Given the description of an element on the screen output the (x, y) to click on. 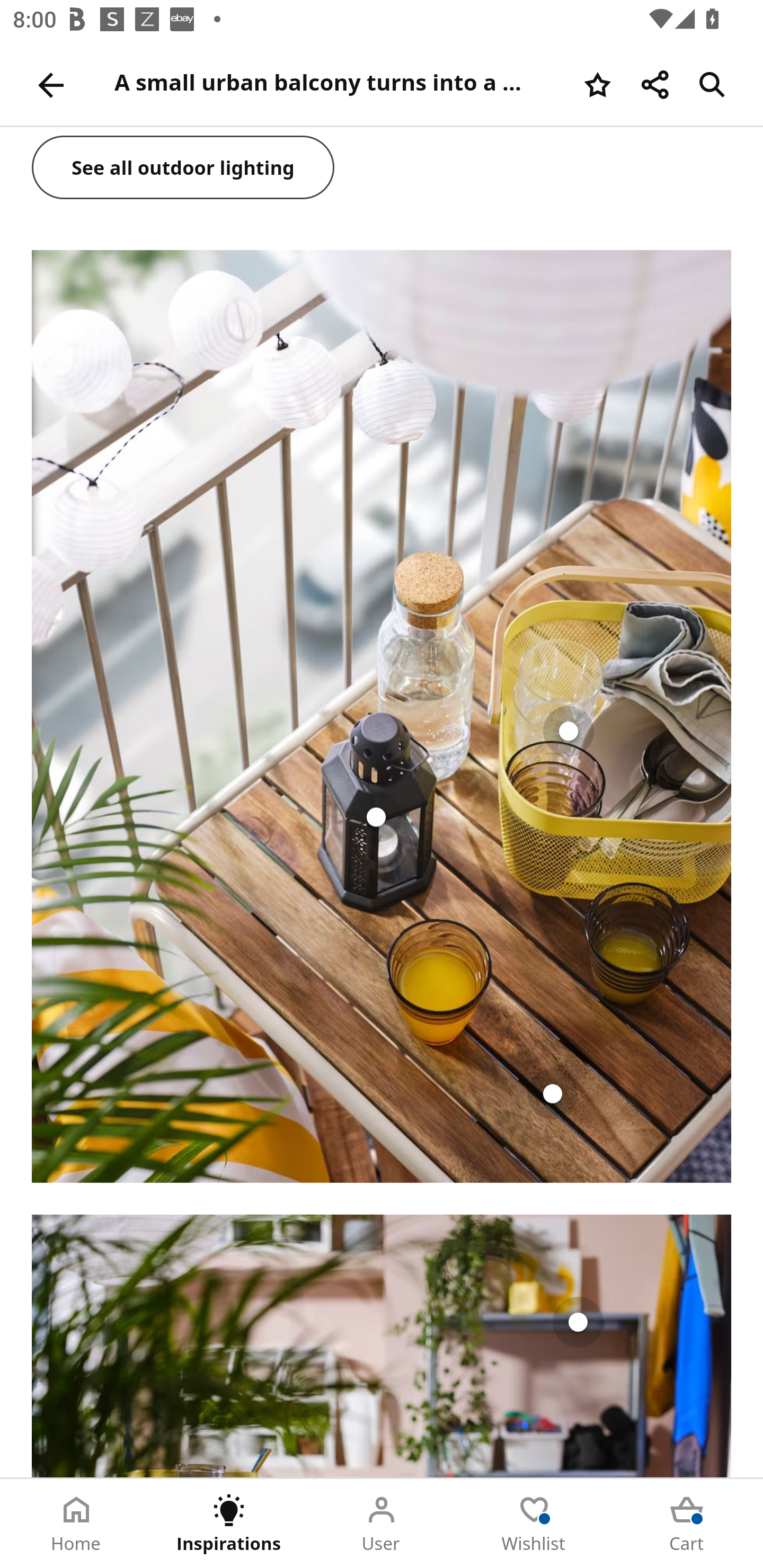
See all outdoor lighting (183, 169)
Home
Tab 1 of 5 (76, 1522)
Inspirations
Tab 2 of 5 (228, 1522)
User
Tab 3 of 5 (381, 1522)
Wishlist
Tab 4 of 5 (533, 1522)
Cart
Tab 5 of 5 (686, 1522)
